Given the description of an element on the screen output the (x, y) to click on. 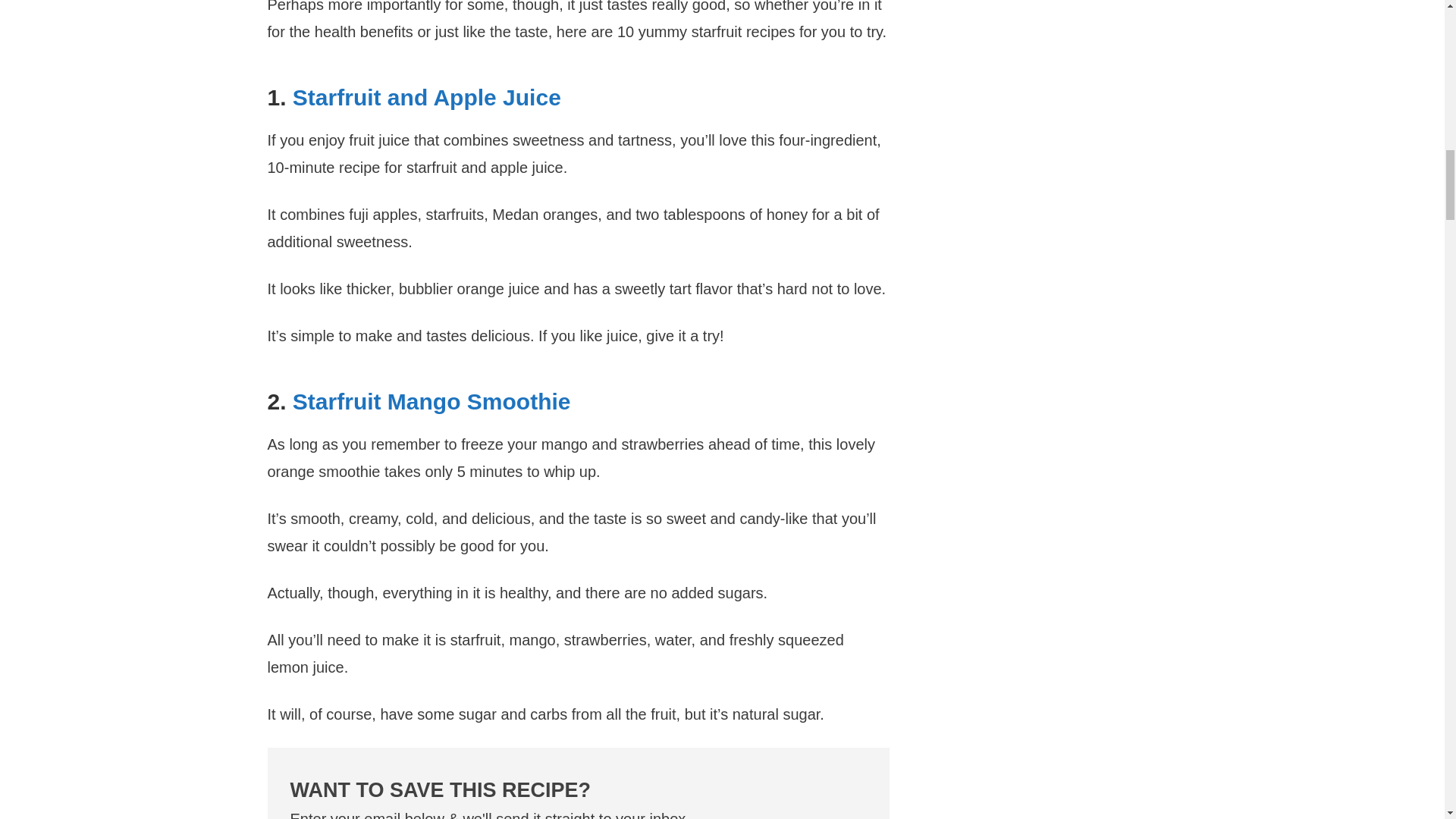
Starfruit and Apple Juice (426, 97)
Starfruit Mango Smoothie (431, 401)
